Given the description of an element on the screen output the (x, y) to click on. 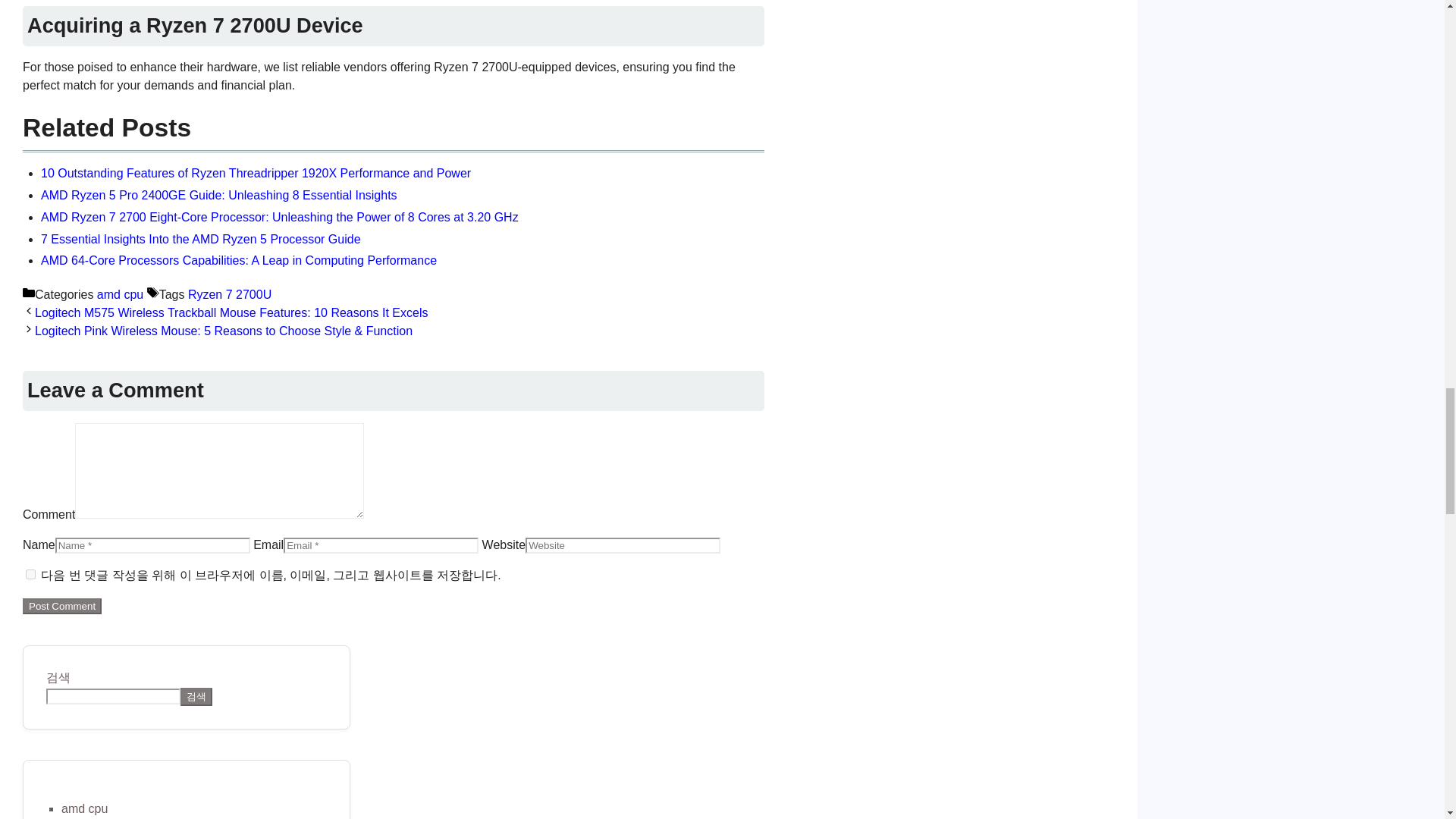
yes (30, 574)
amd cpu (84, 808)
Ryzen 7 2700U (228, 294)
Post Comment (62, 606)
amd cpu (119, 294)
Post Comment (62, 606)
7 Essential Insights Into the AMD Ryzen 5 Processor Guide (200, 237)
